Given the description of an element on the screen output the (x, y) to click on. 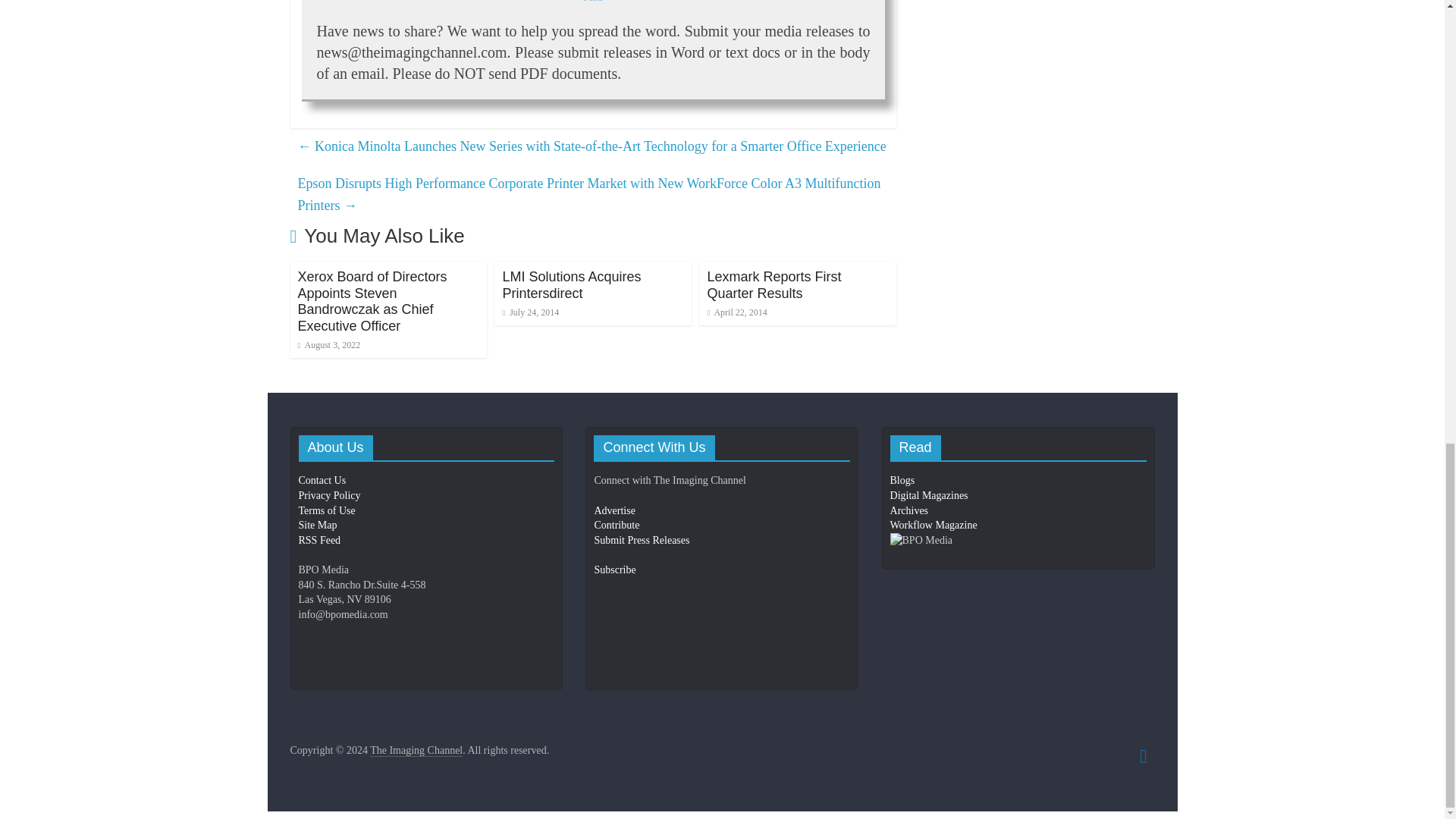
10:08 pm (530, 312)
LMI Solutions Acquires Printersdirect (571, 285)
Lexmark Reports First Quarter Results (773, 285)
3:21 pm (328, 344)
